Given the description of an element on the screen output the (x, y) to click on. 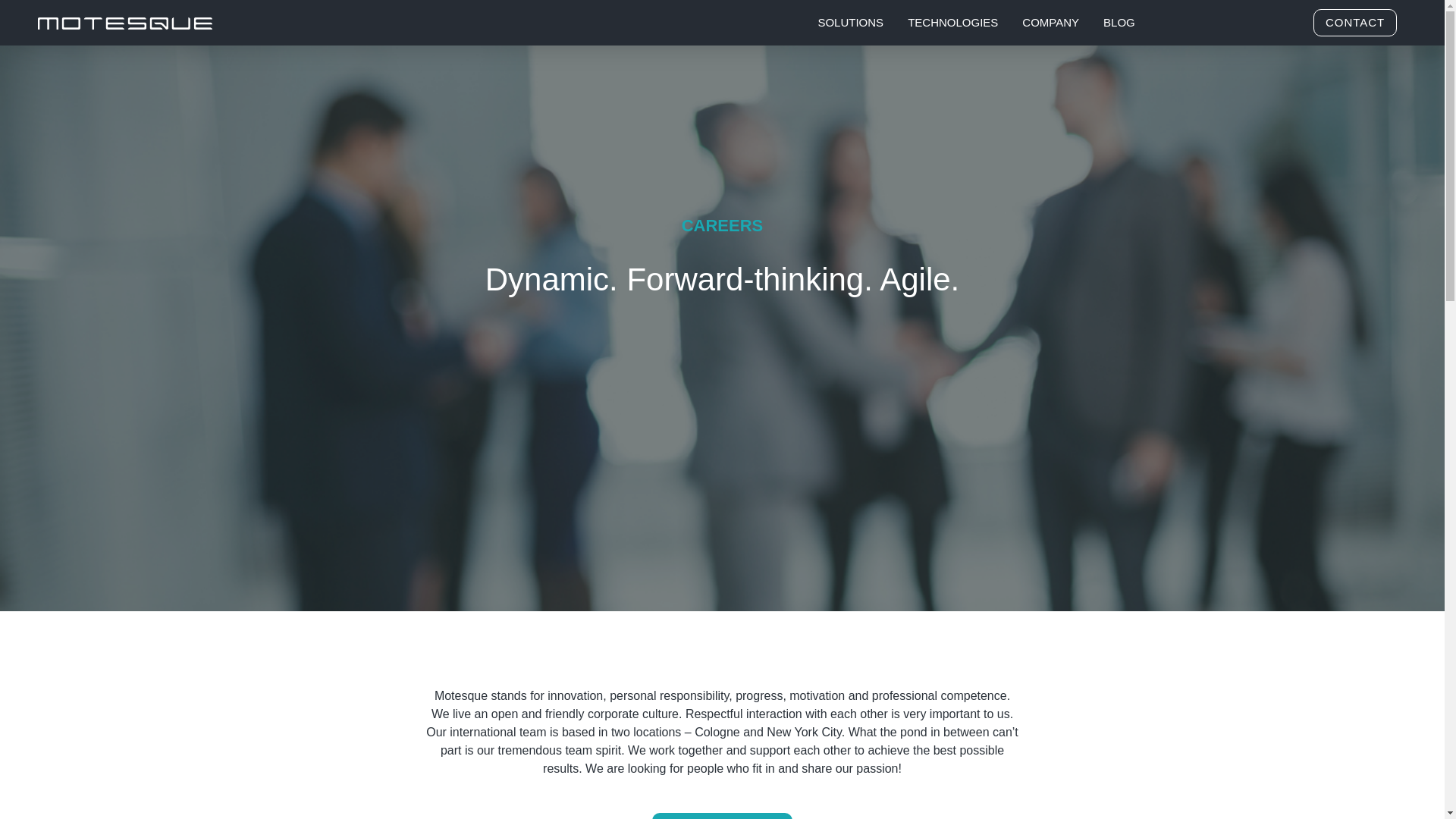
CONTACT (1354, 22)
SOLUTIONS (850, 0)
BLOG (1119, 12)
TECHNOLOGIES (952, 5)
APPLY NOW (722, 816)
COMPANY (1050, 9)
